Given the description of an element on the screen output the (x, y) to click on. 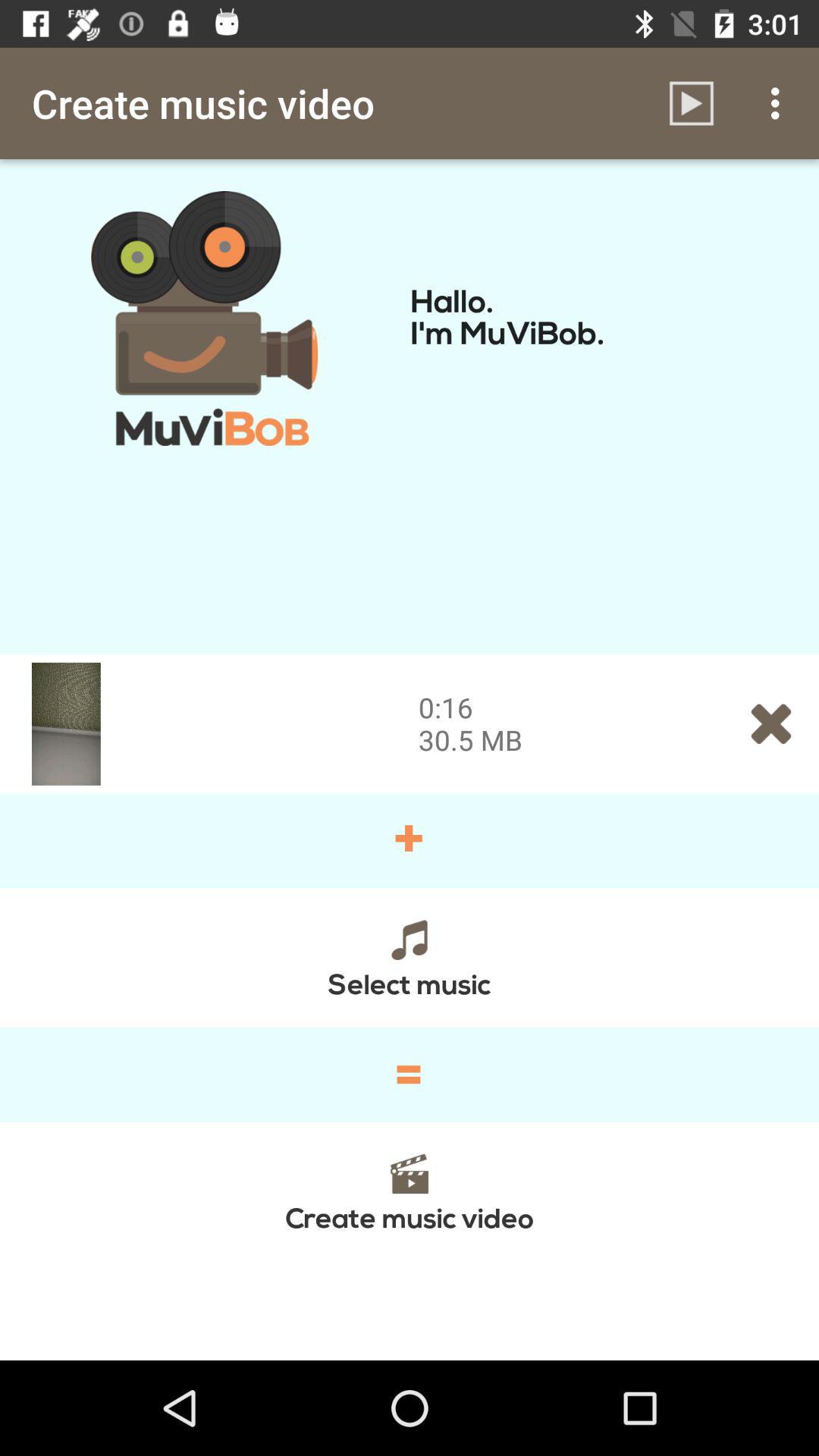
launch item next to create music video app (691, 103)
